Given the description of an element on the screen output the (x, y) to click on. 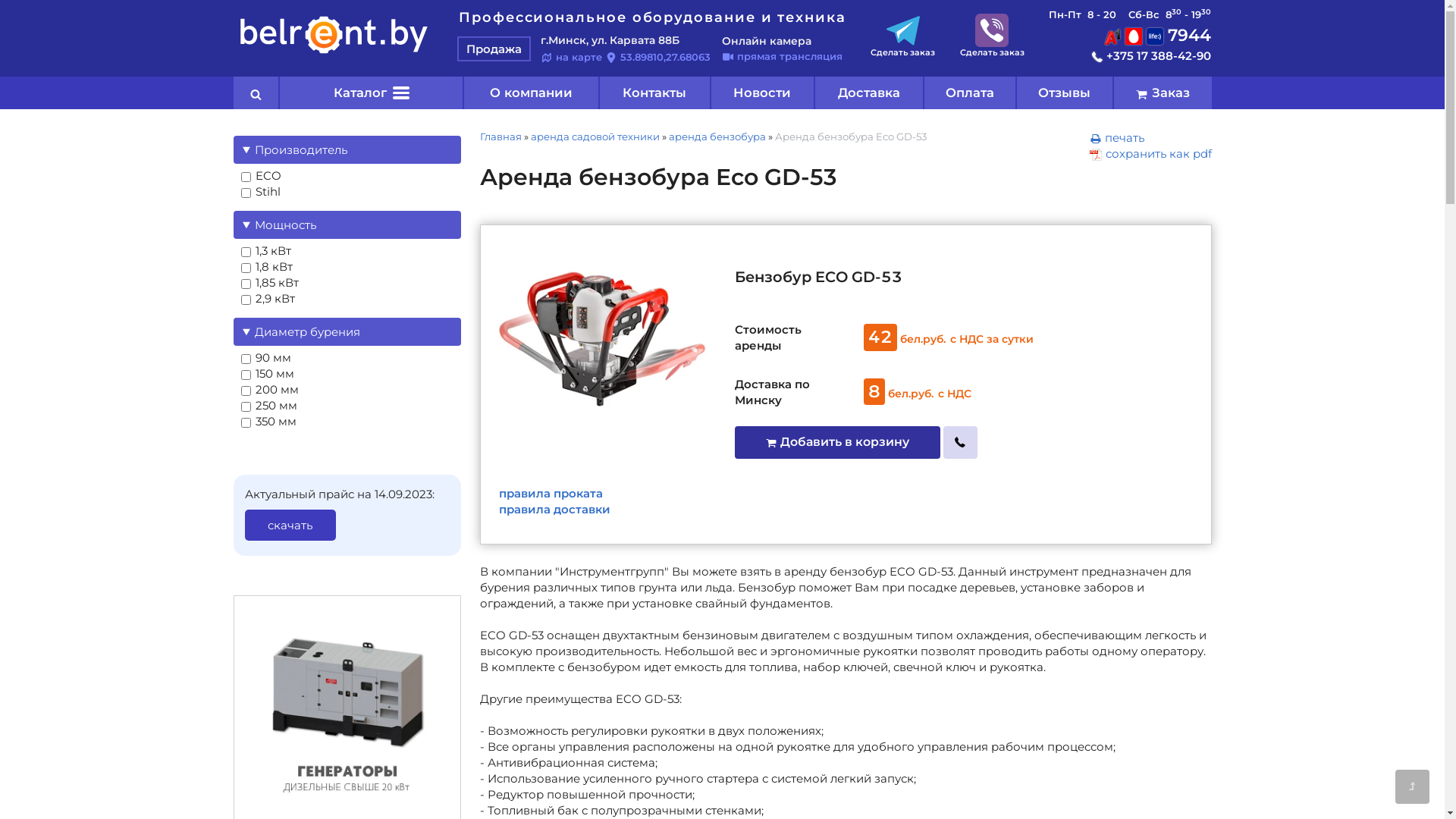
+375 17 388-42-90 Element type: text (1151, 55)
53.89810,27.68063 Element type: text (657, 56)
7944 Element type: text (1157, 35)
